Given the description of an element on the screen output the (x, y) to click on. 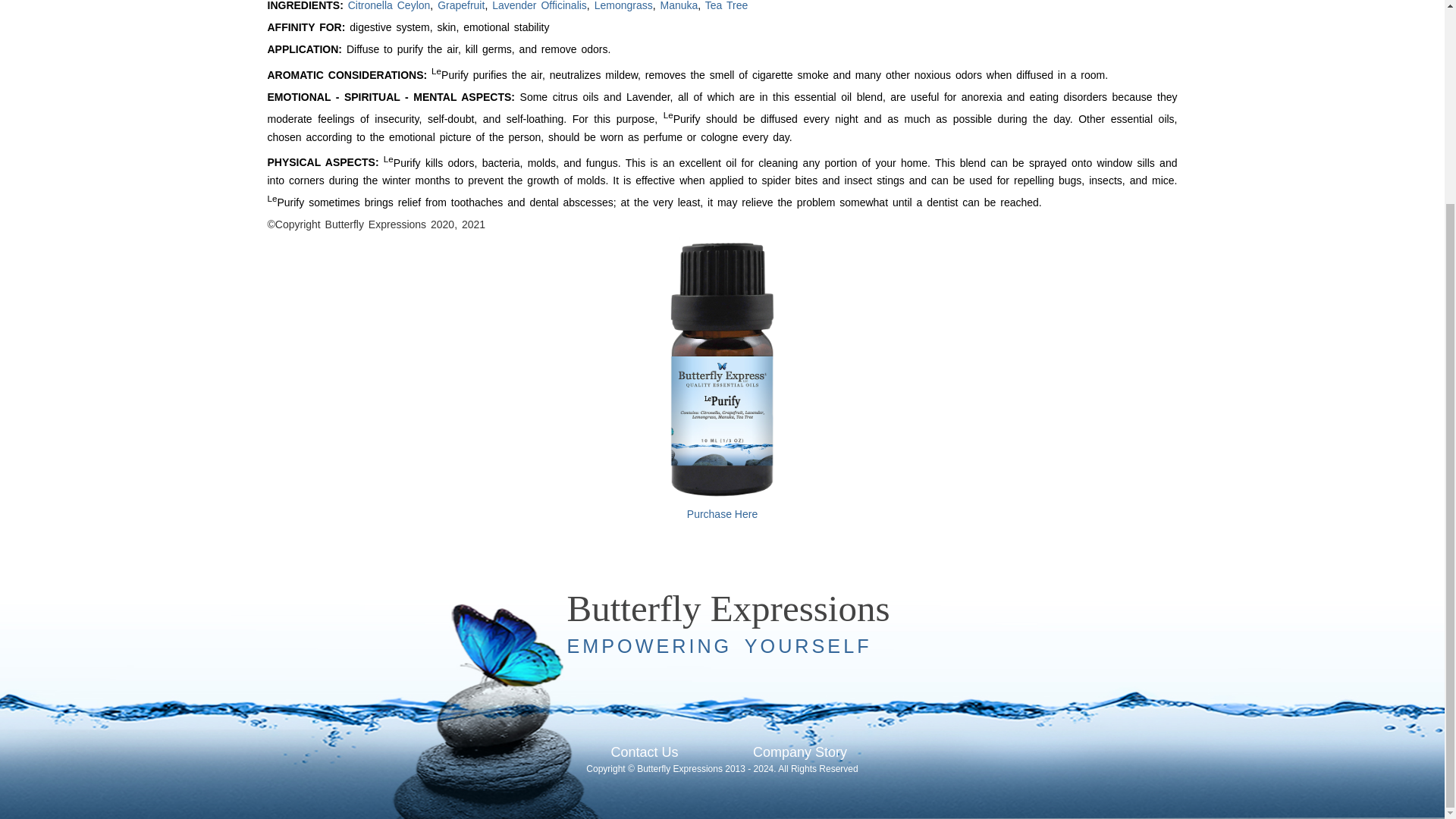
Citronella Ceylon (388, 5)
Lavender Officinalis (539, 5)
Purchase Here (721, 506)
Contact Us (643, 752)
Manuka (678, 5)
Company Story (799, 752)
Grapefruit (461, 5)
Tea Tree (726, 5)
Lemongrass (623, 5)
